Given the description of an element on the screen output the (x, y) to click on. 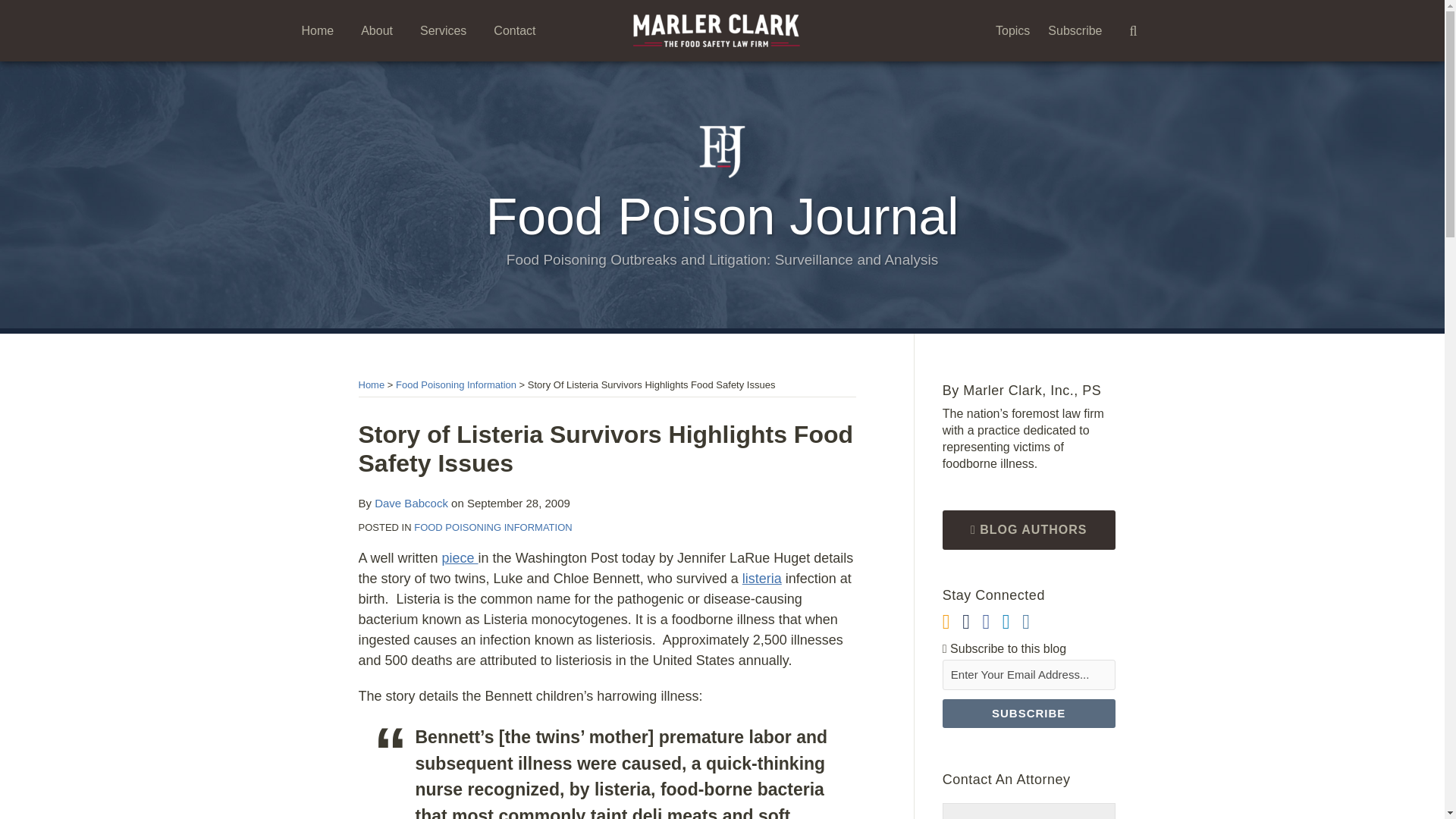
Subscribe (1075, 30)
FOOD POISONING INFORMATION (492, 527)
Follow Bill on Twitter (965, 621)
BLOG AUTHORS (1028, 529)
Contact (514, 30)
Home (371, 384)
Dave Babcock (411, 502)
Food Poisoning Information (456, 384)
Topics (1012, 30)
Food Poison Journal (722, 215)
About (377, 30)
piece (460, 557)
Subscribe (1028, 713)
Subscribe by RSS (946, 621)
listeria (761, 578)
